Given the description of an element on the screen output the (x, y) to click on. 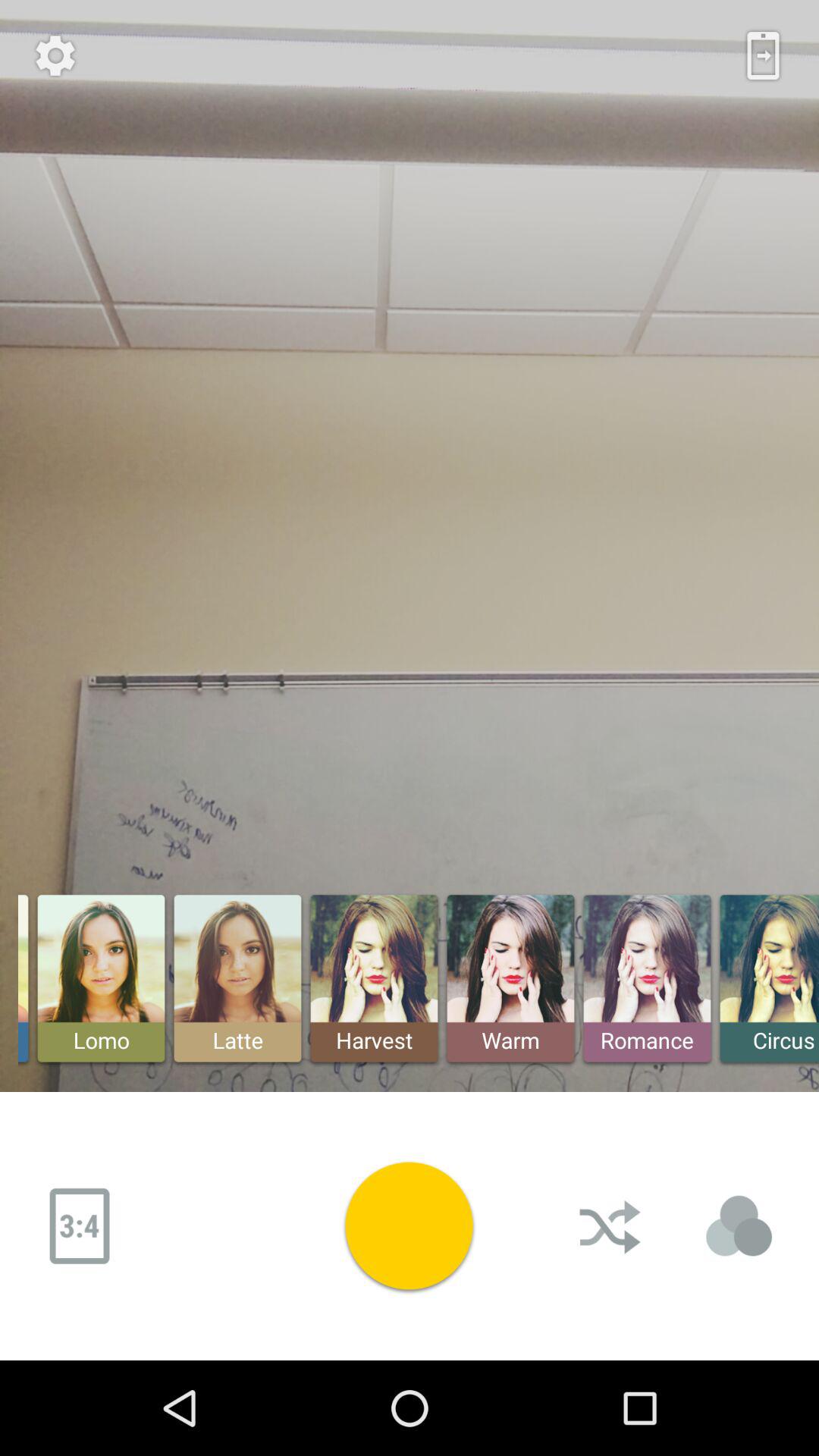
select the settings button (55, 55)
